Given the description of an element on the screen output the (x, y) to click on. 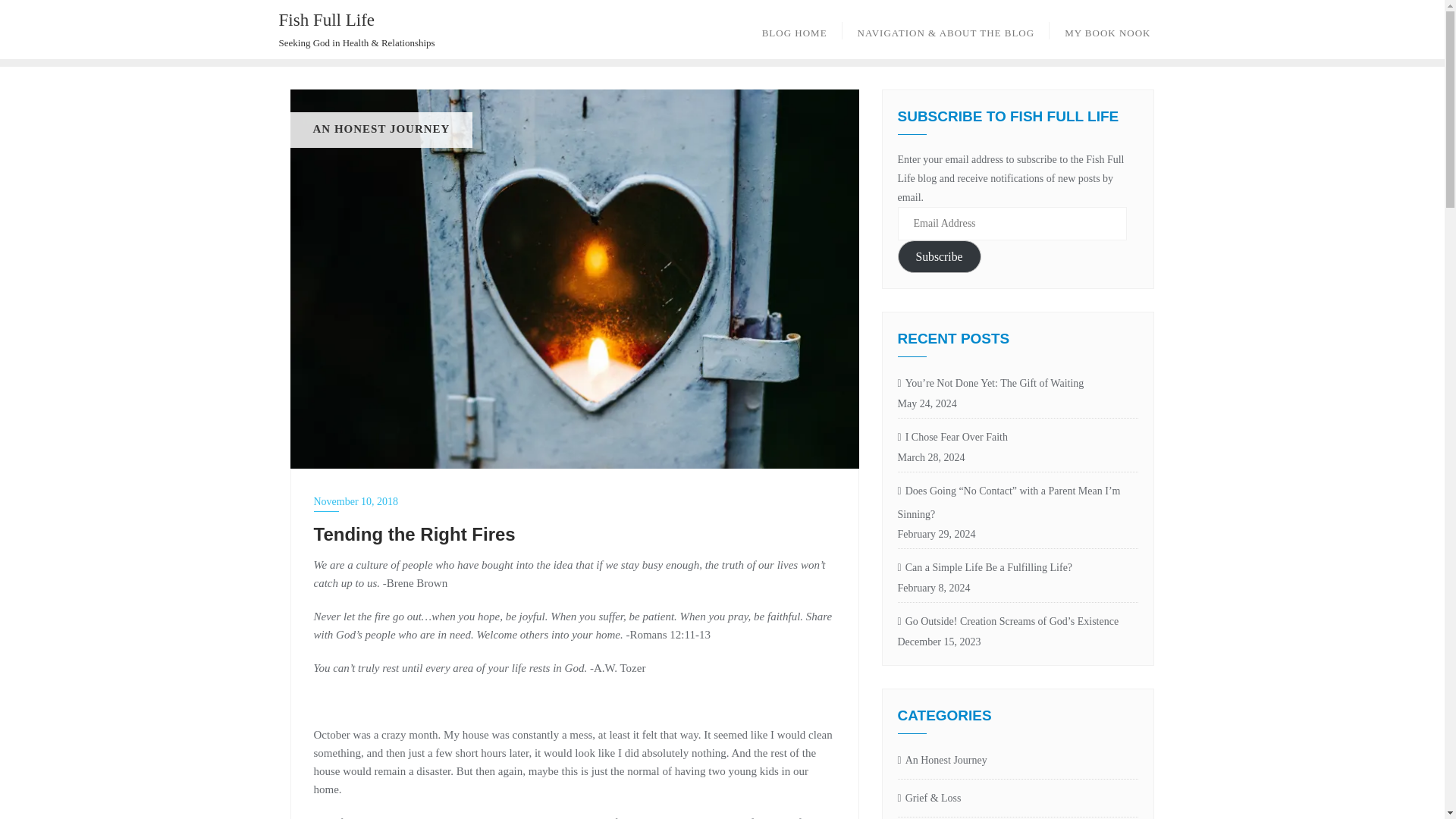
Can a Simple Life Be a Fulfilling Life? (1018, 567)
Subscribe (939, 256)
I Chose Fear Over Faith (1018, 437)
BLOG HOME (794, 29)
MY BOOK NOOK (1107, 29)
An Honest Journey (942, 761)
November 10, 2018 (574, 501)
